Given the description of an element on the screen output the (x, y) to click on. 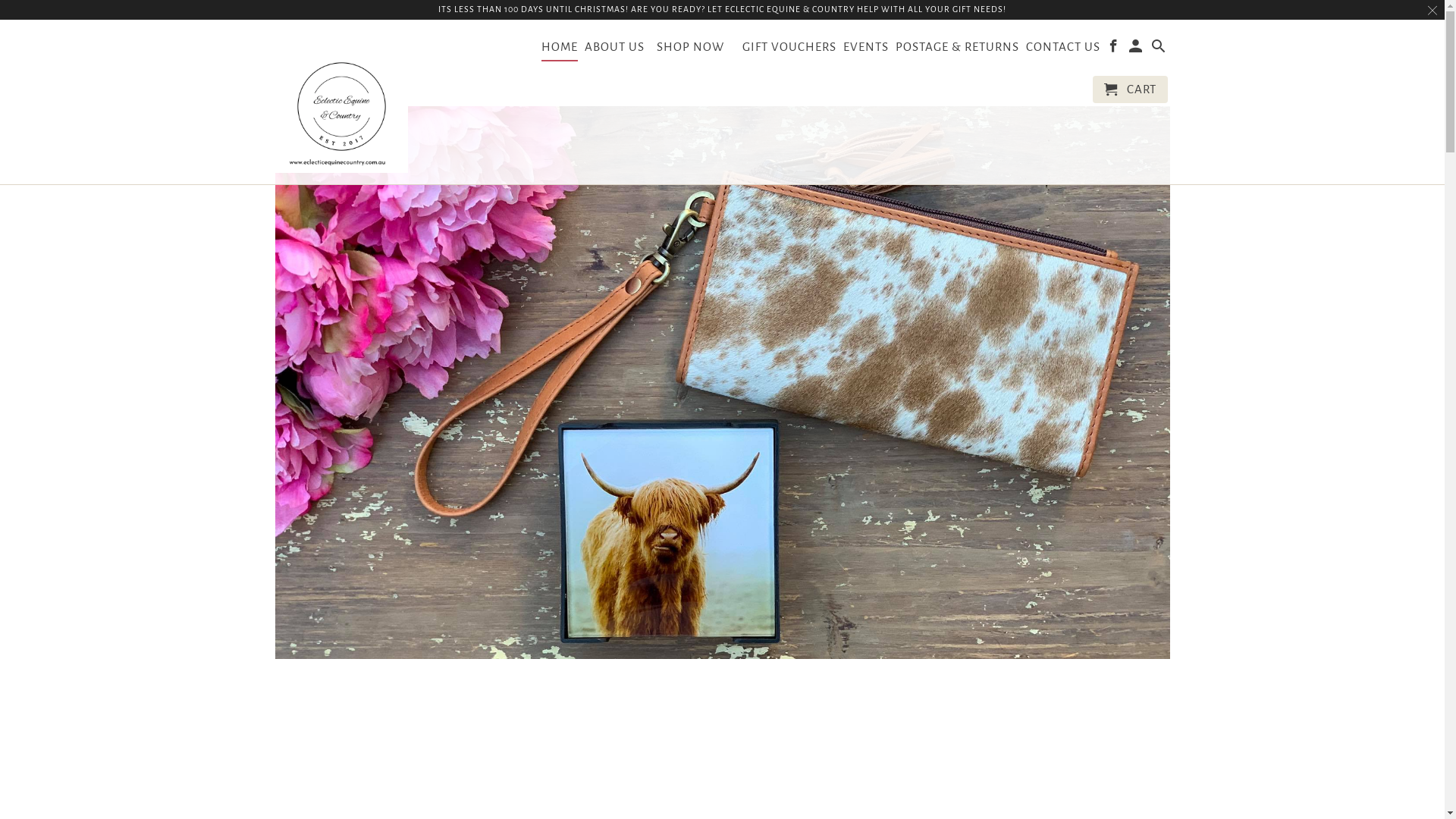
Eclectic Equine & Country on Facebook Element type: hover (1115, 48)
Eclectic Equine & Country Element type: hover (340, 101)
CONTACT US Element type: text (1063, 49)
2 Element type: text (722, 750)
POSTAGE & RETURNS Element type: text (957, 49)
Search Element type: hover (1159, 48)
CART Element type: text (1129, 89)
HOME Element type: text (559, 49)
1 Element type: text (682, 750)
EVENTS Element type: text (865, 49)
GIFT VOUCHERS Element type: text (789, 49)
ABOUT US Element type: text (614, 49)
3 Element type: text (760, 750)
My Account  Element type: hover (1137, 48)
